Given the description of an element on the screen output the (x, y) to click on. 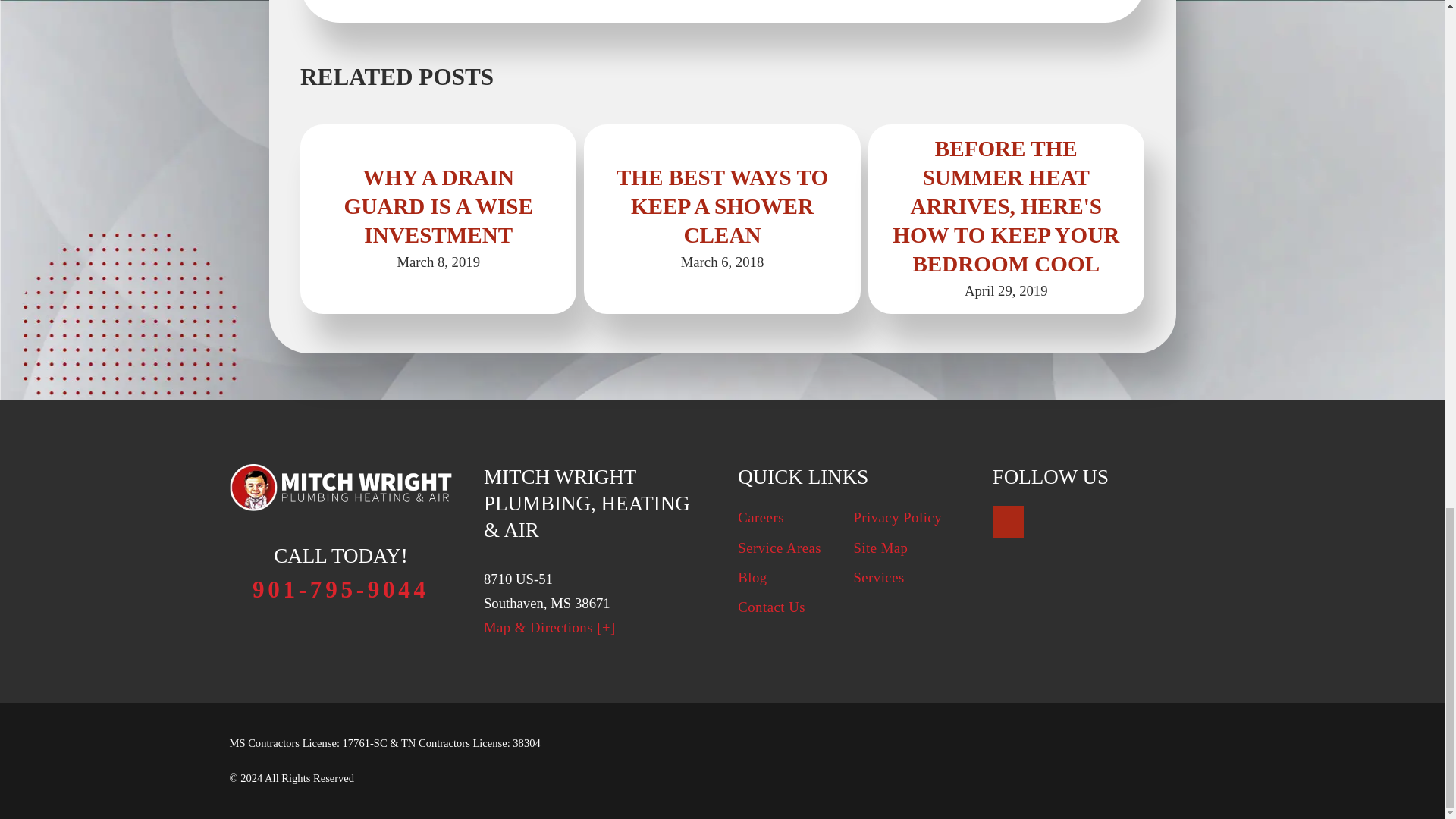
Privacy Policy (897, 517)
Service Areas (779, 548)
901-795-9044 (340, 589)
WHY A DRAIN GUARD IS A WISE INVESTMENT (437, 206)
Careers (761, 517)
THE BEST WAYS TO KEEP A SHOWER CLEAN (721, 206)
